Given the description of an element on the screen output the (x, y) to click on. 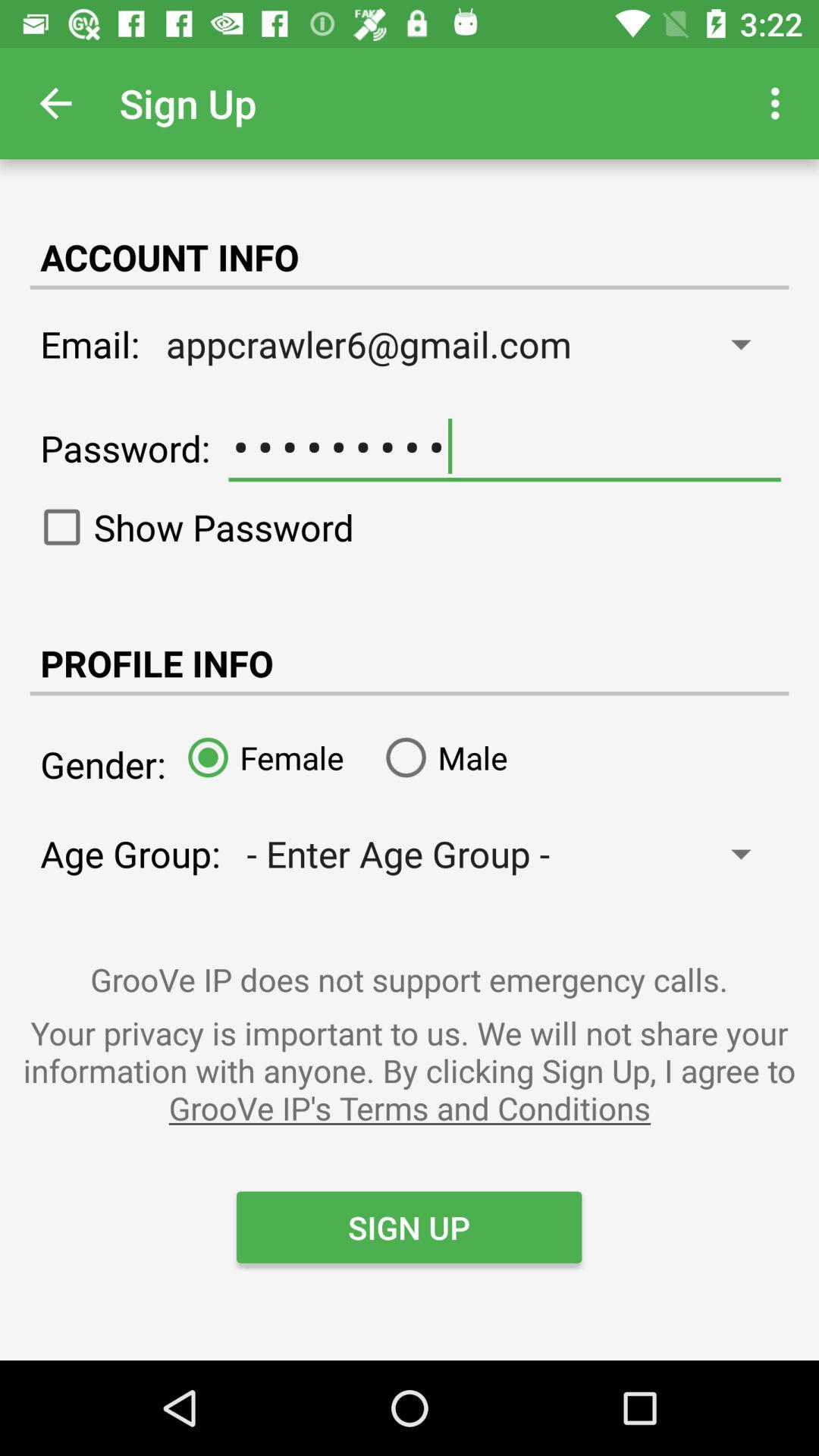
launch the icon next to the sign up app (779, 103)
